Given the description of an element on the screen output the (x, y) to click on. 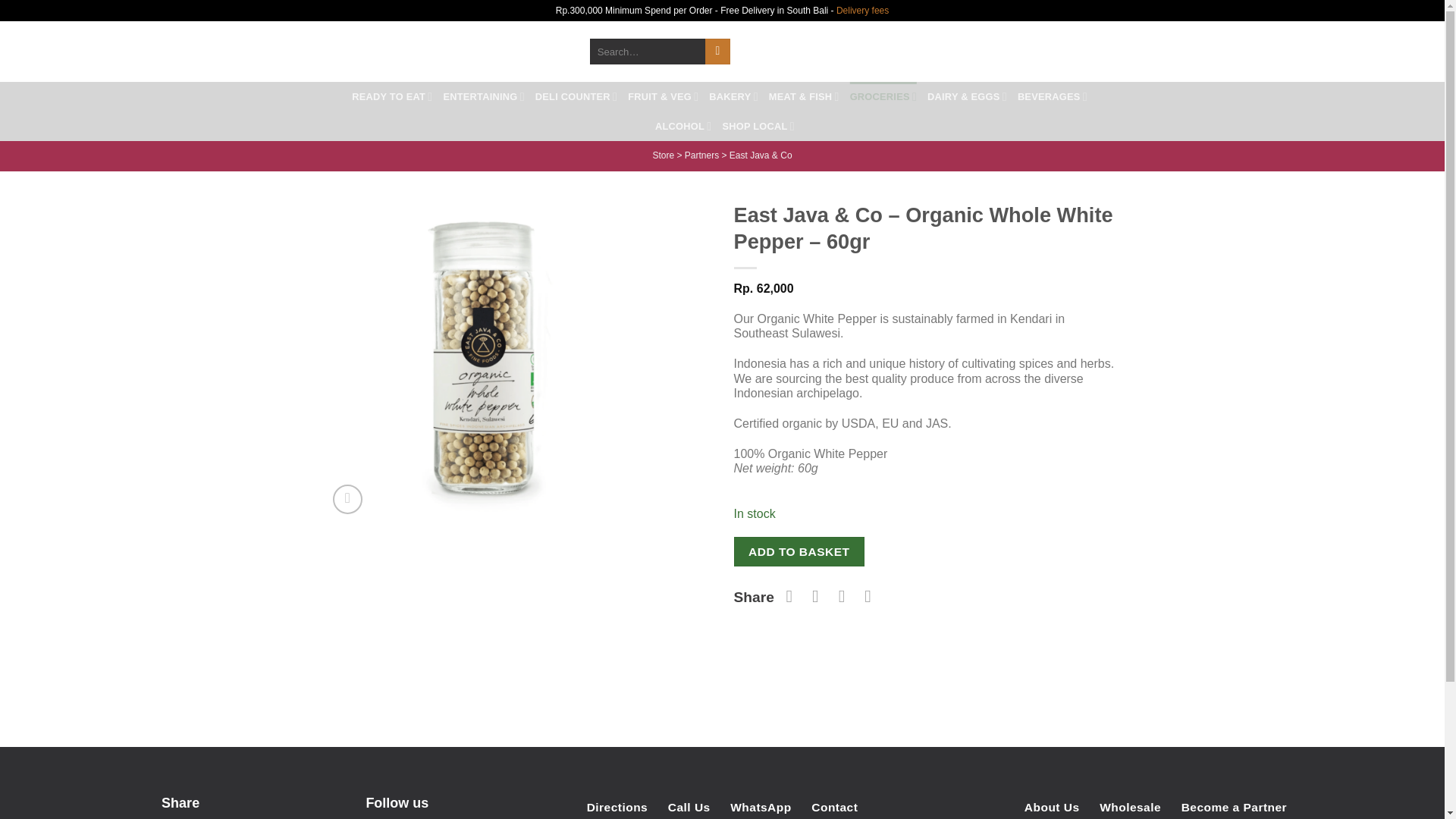
LOGIN (1027, 50)
ENTERTAINING (483, 96)
DELI COUNTER (576, 96)
Search (717, 51)
Basket (1094, 51)
Vivre Gourmet (375, 51)
Login (1027, 50)
Delivery fees (861, 9)
Zoom (347, 499)
NEW Half Size Roast Chicken Delivery Package for 2 (1088, 52)
